Given the description of an element on the screen output the (x, y) to click on. 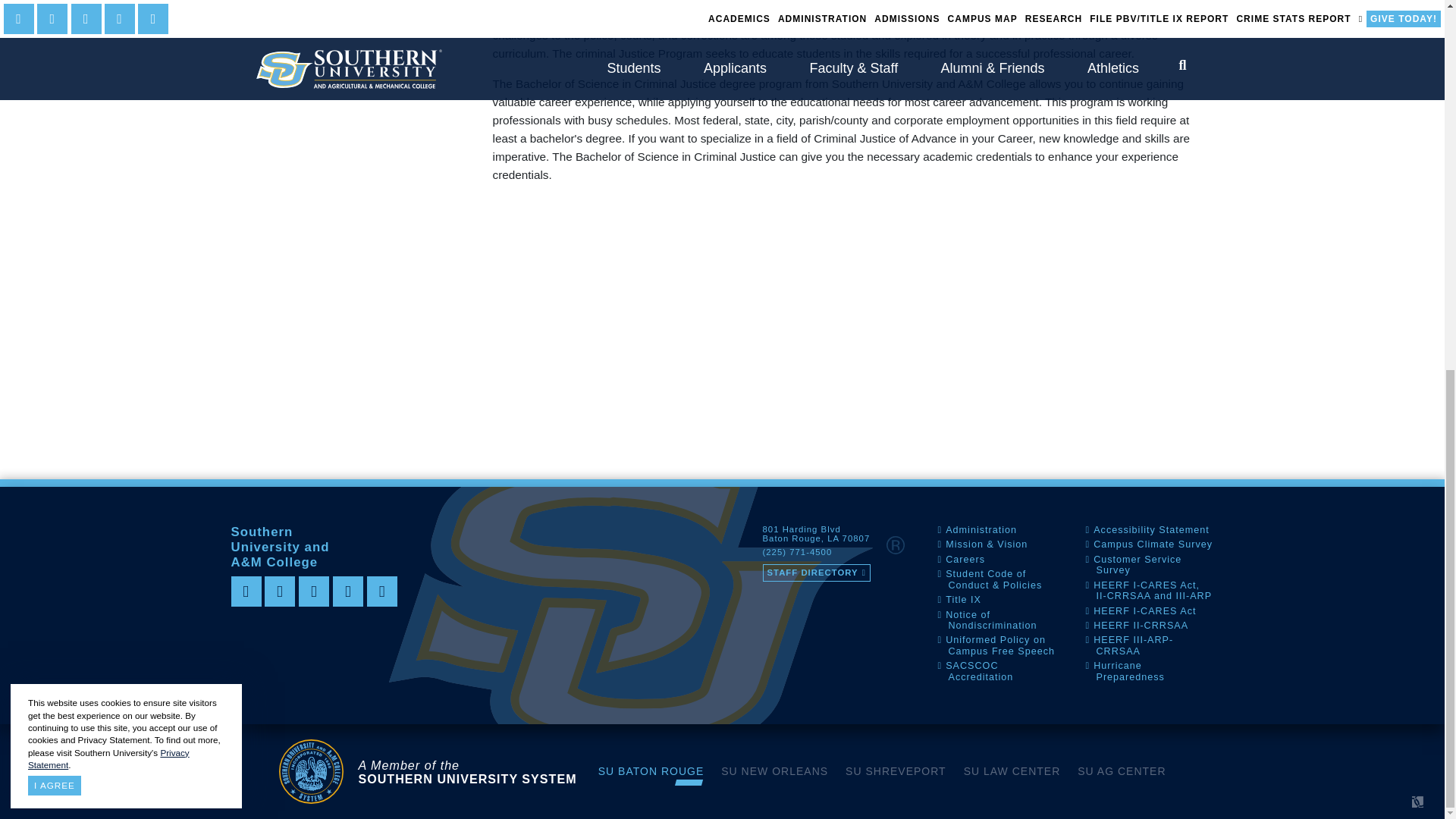
Privacy Statement (108, 86)
I AGREE (54, 113)
